Given the description of an element on the screen output the (x, y) to click on. 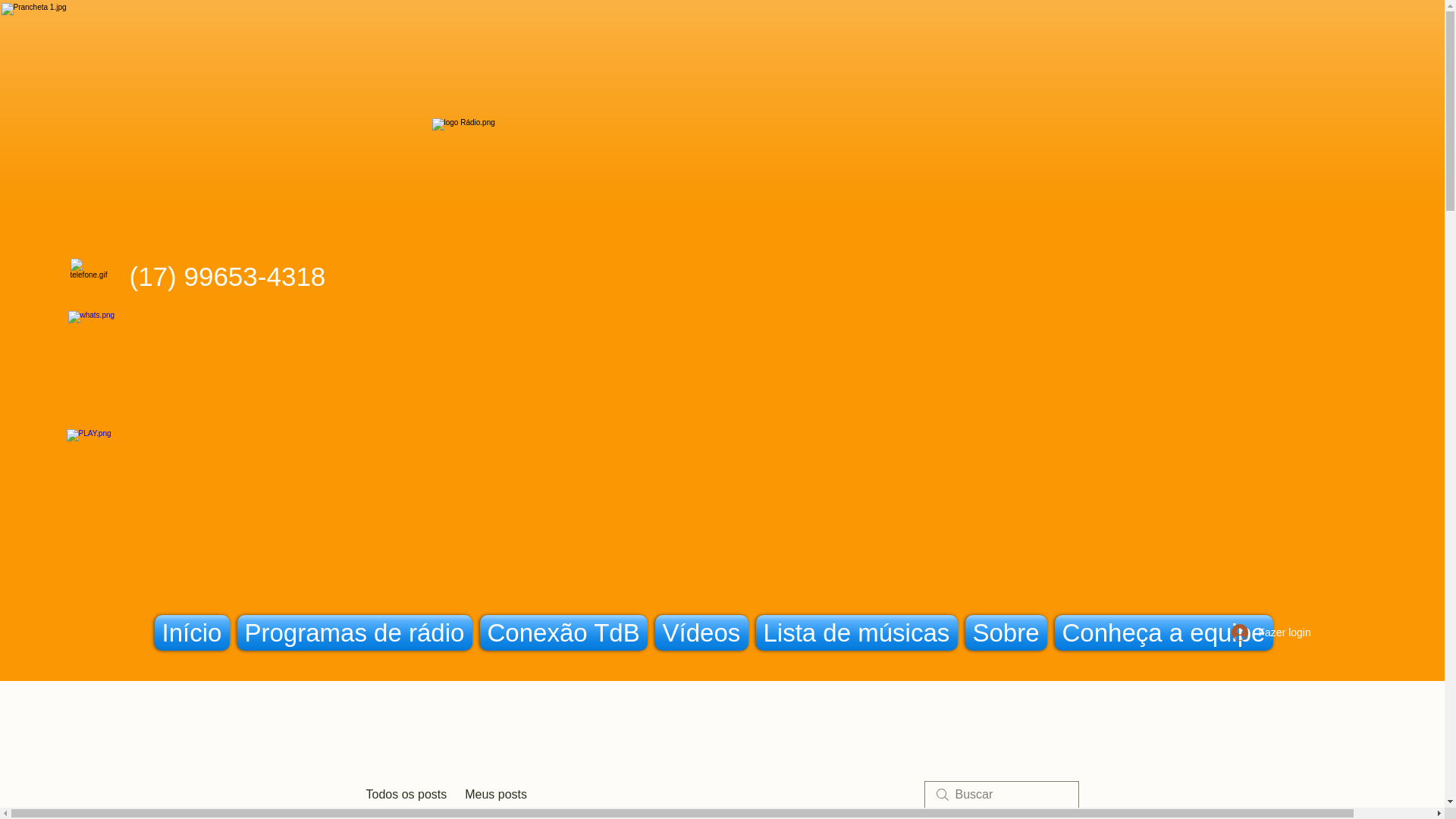
Meus posts (495, 794)
Todos os posts (405, 794)
Fazer login (1263, 633)
Sobre (1005, 632)
